Given the description of an element on the screen output the (x, y) to click on. 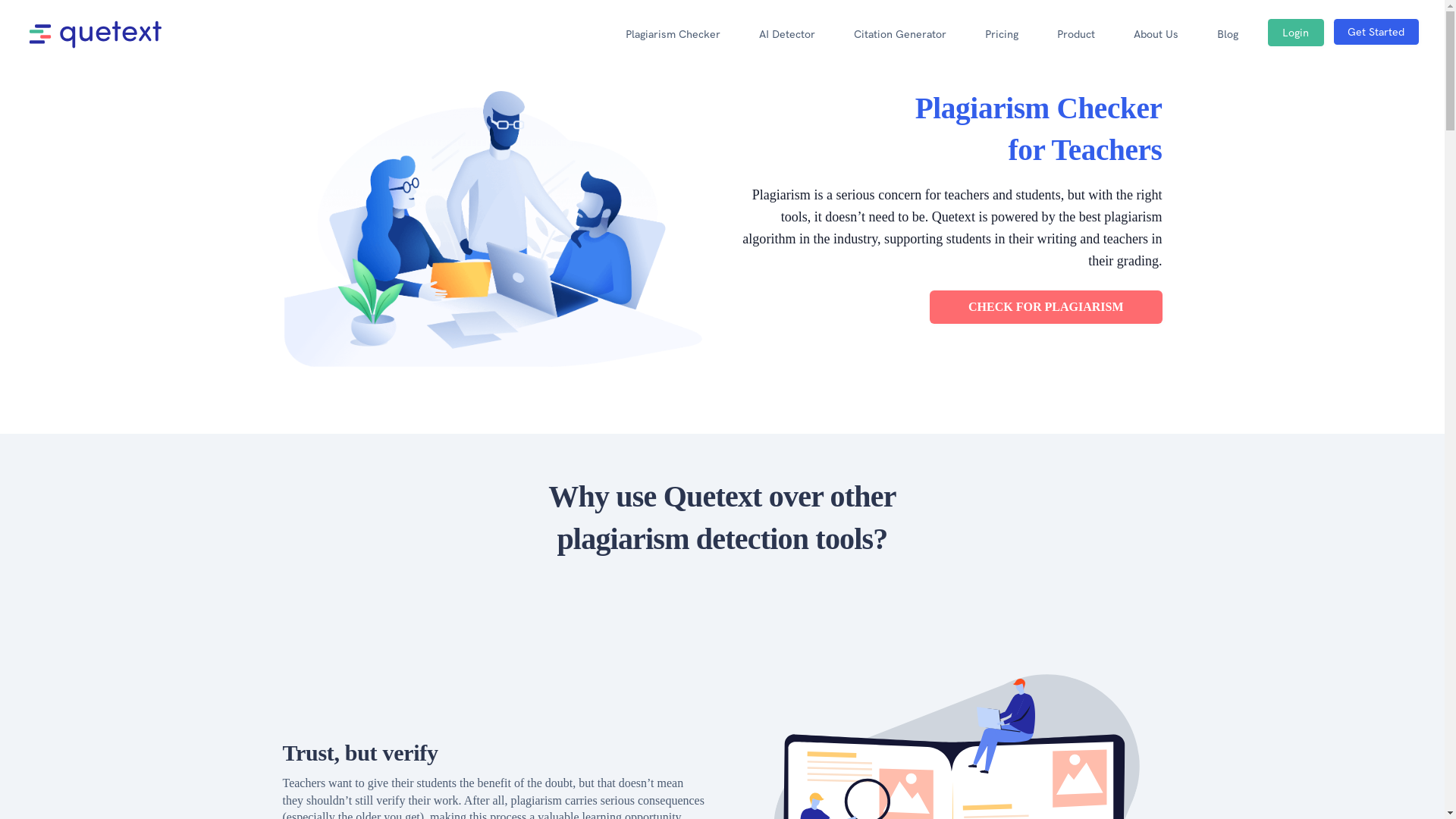
About Us (1156, 33)
Blog (1227, 33)
Plagiarism Checker (673, 33)
AI Detector (786, 33)
Login (1295, 31)
Pricing (1002, 33)
Citation Generator (900, 33)
CHECK FOR PLAGIARISM (1045, 306)
Product (1076, 33)
Get Started (1375, 31)
